Given the description of an element on the screen output the (x, y) to click on. 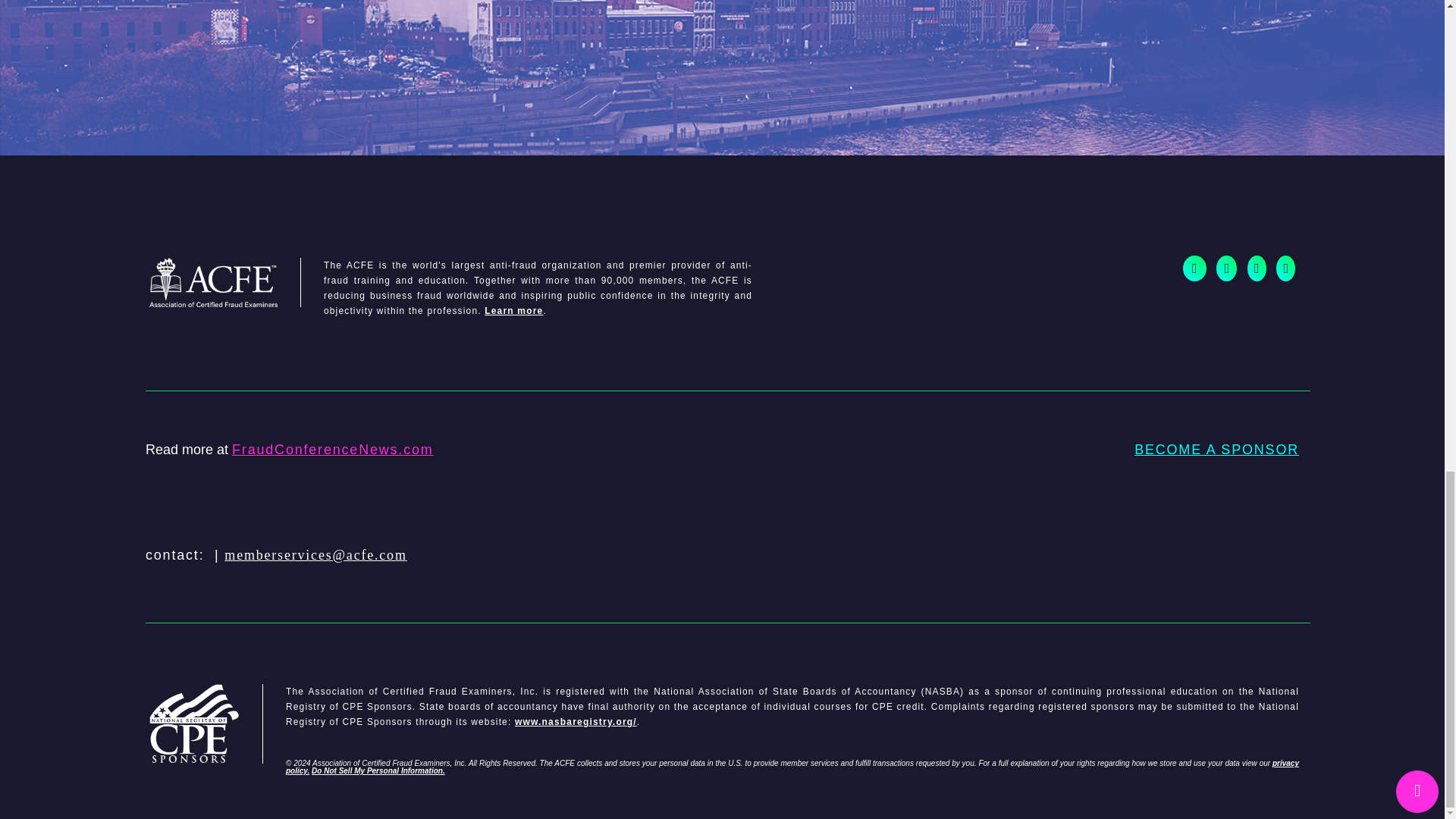
Do Not Sell My Personal Information. (378, 770)
BECOME A SPONSOR (1216, 456)
nasba-cpe.gif (225, 282)
nasba icon (206, 723)
FraudConferenceNews.com (332, 449)
privacy policy. (791, 766)
Learn more (513, 310)
